Given the description of an element on the screen output the (x, y) to click on. 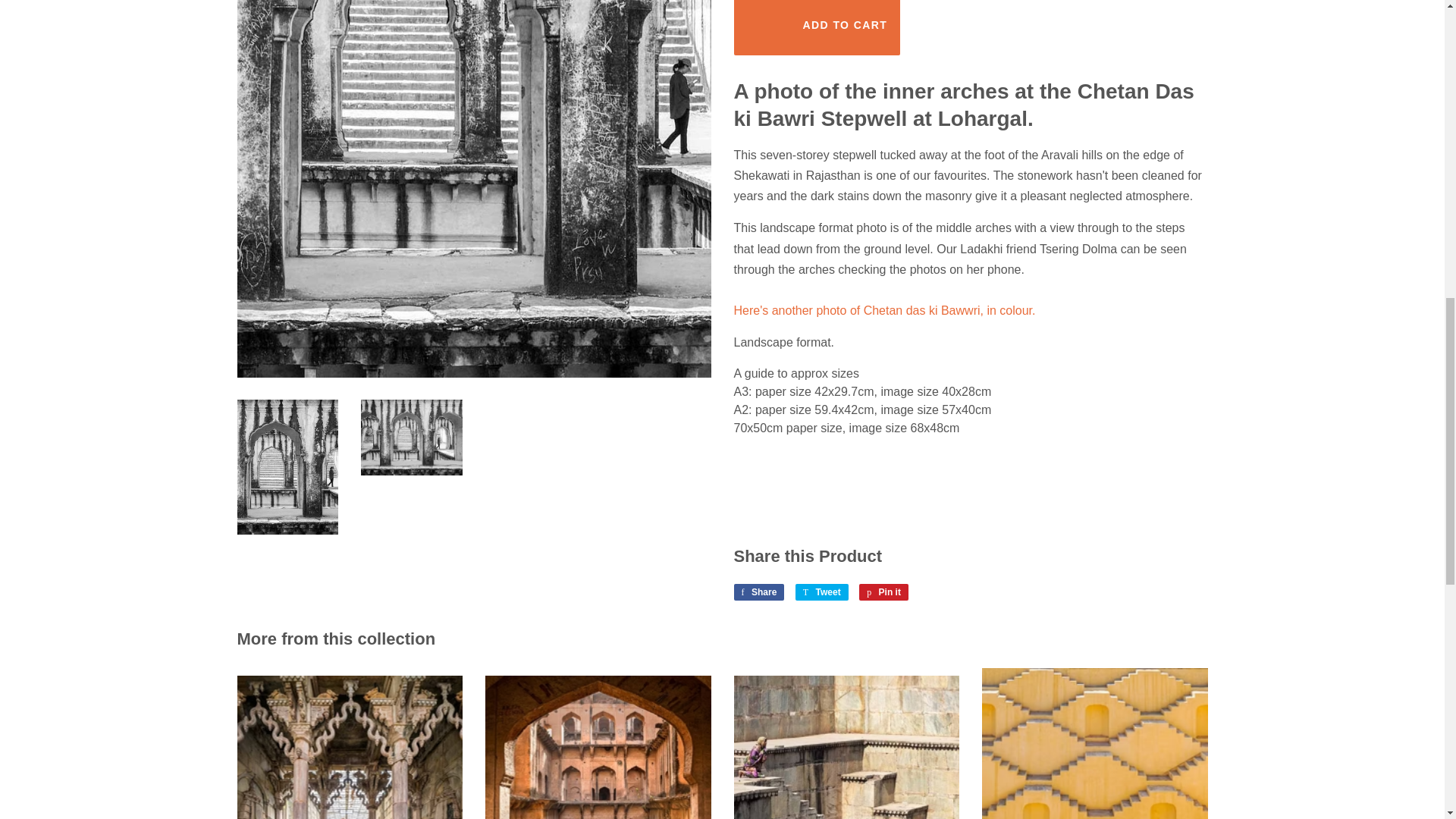
Share on Facebook (758, 591)
Tweet on Twitter (821, 591)
Pin on Pinterest (883, 591)
Lohargal Stepwell (884, 309)
